Given the description of an element on the screen output the (x, y) to click on. 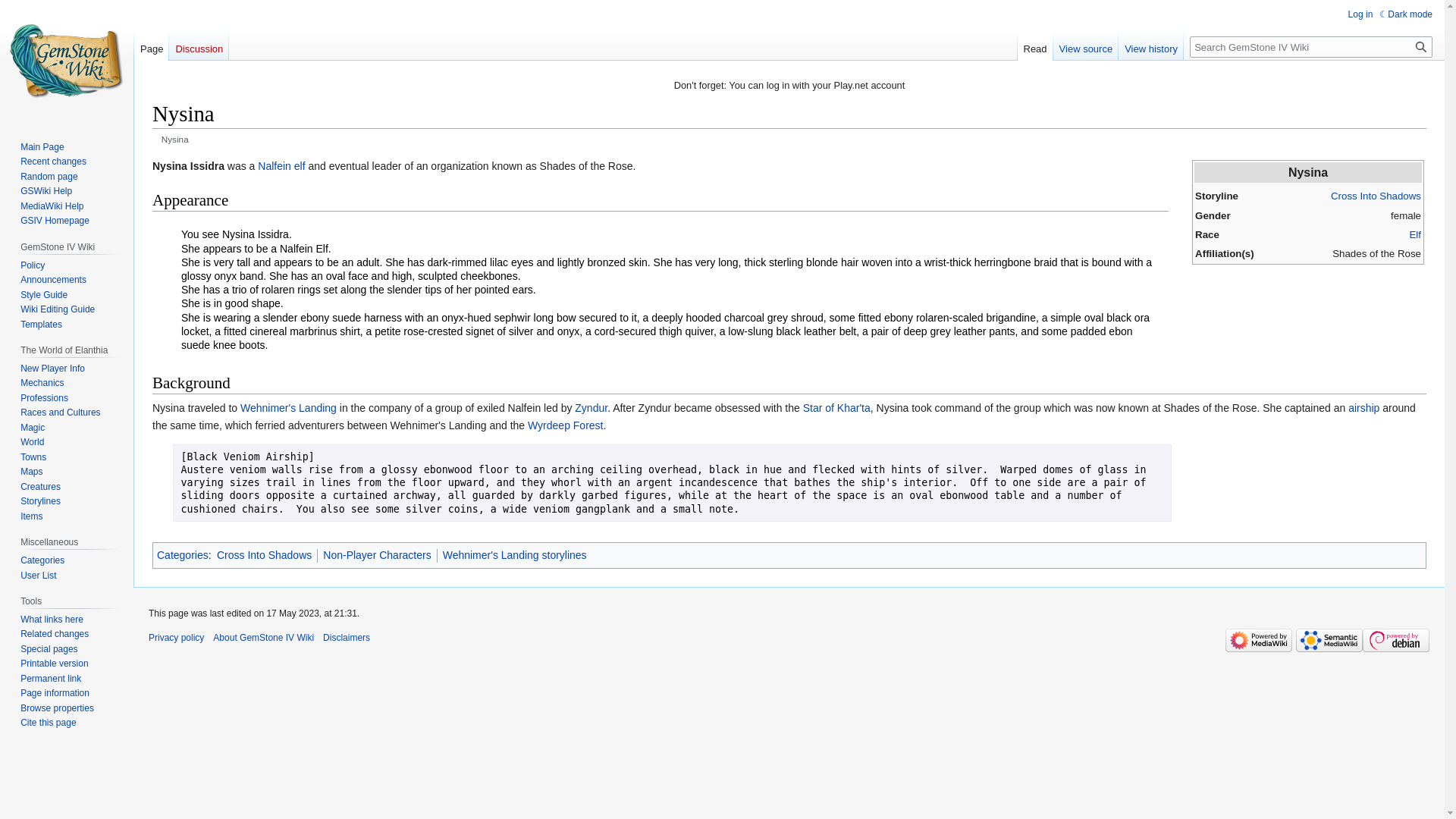
Search (1420, 46)
Log in (1360, 14)
Cross Into Shadows (1375, 195)
Zyndur (591, 408)
Elf (1415, 234)
Airship (1363, 408)
Main Page (42, 146)
Read (1034, 45)
Random page (48, 176)
Go (1420, 46)
airship (1363, 408)
Categories (182, 554)
Wehnimer's Landing storylines (514, 554)
Category:Non-Player Characters (376, 554)
Wiki Editing Guide (57, 308)
